Given the description of an element on the screen output the (x, y) to click on. 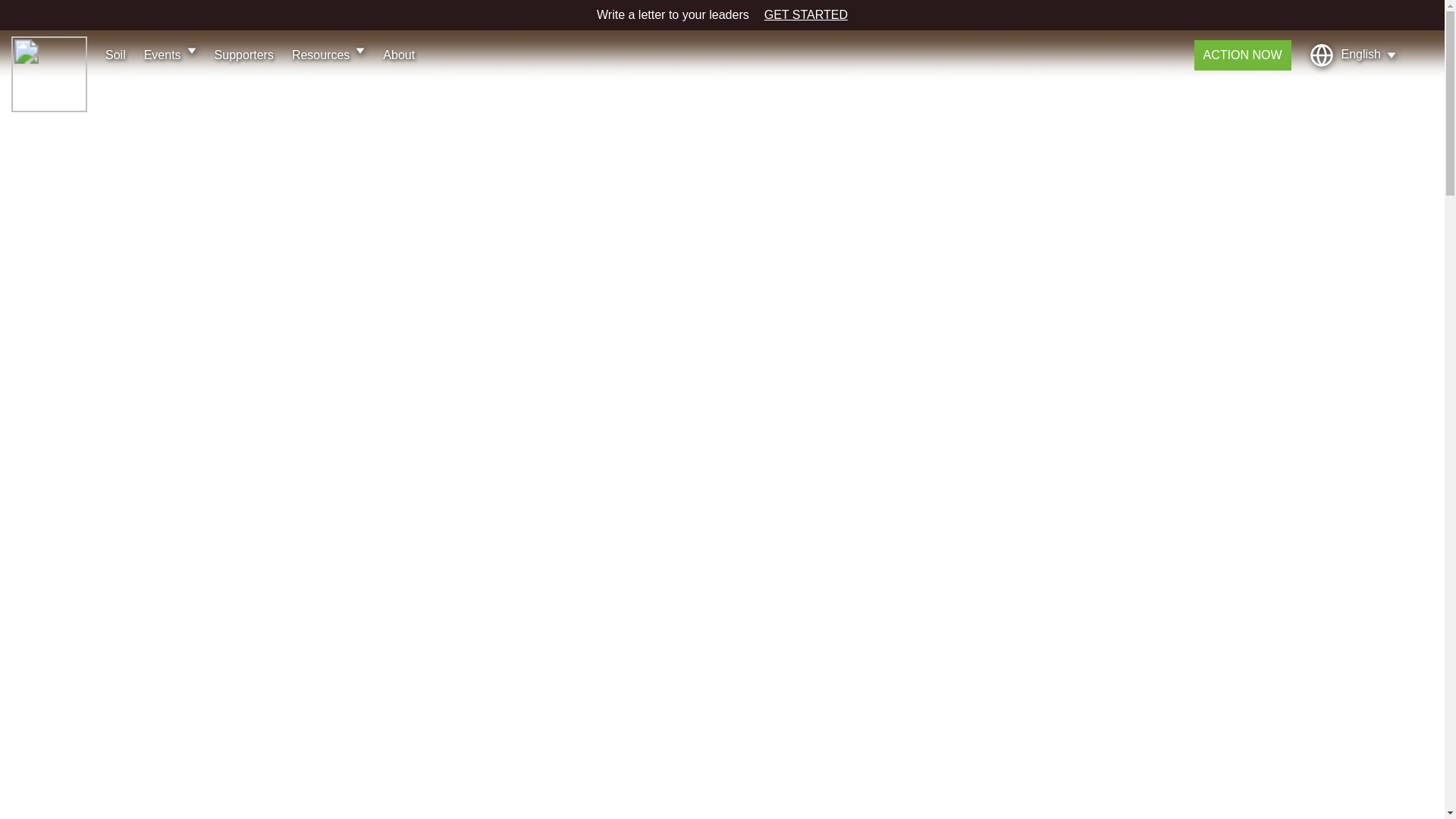
ACTION NOW (1242, 55)
Events (170, 54)
About (398, 54)
English (1352, 55)
Supporters (243, 54)
GET STARTED (805, 14)
Resources (328, 54)
Soil (114, 54)
